Given the description of an element on the screen output the (x, y) to click on. 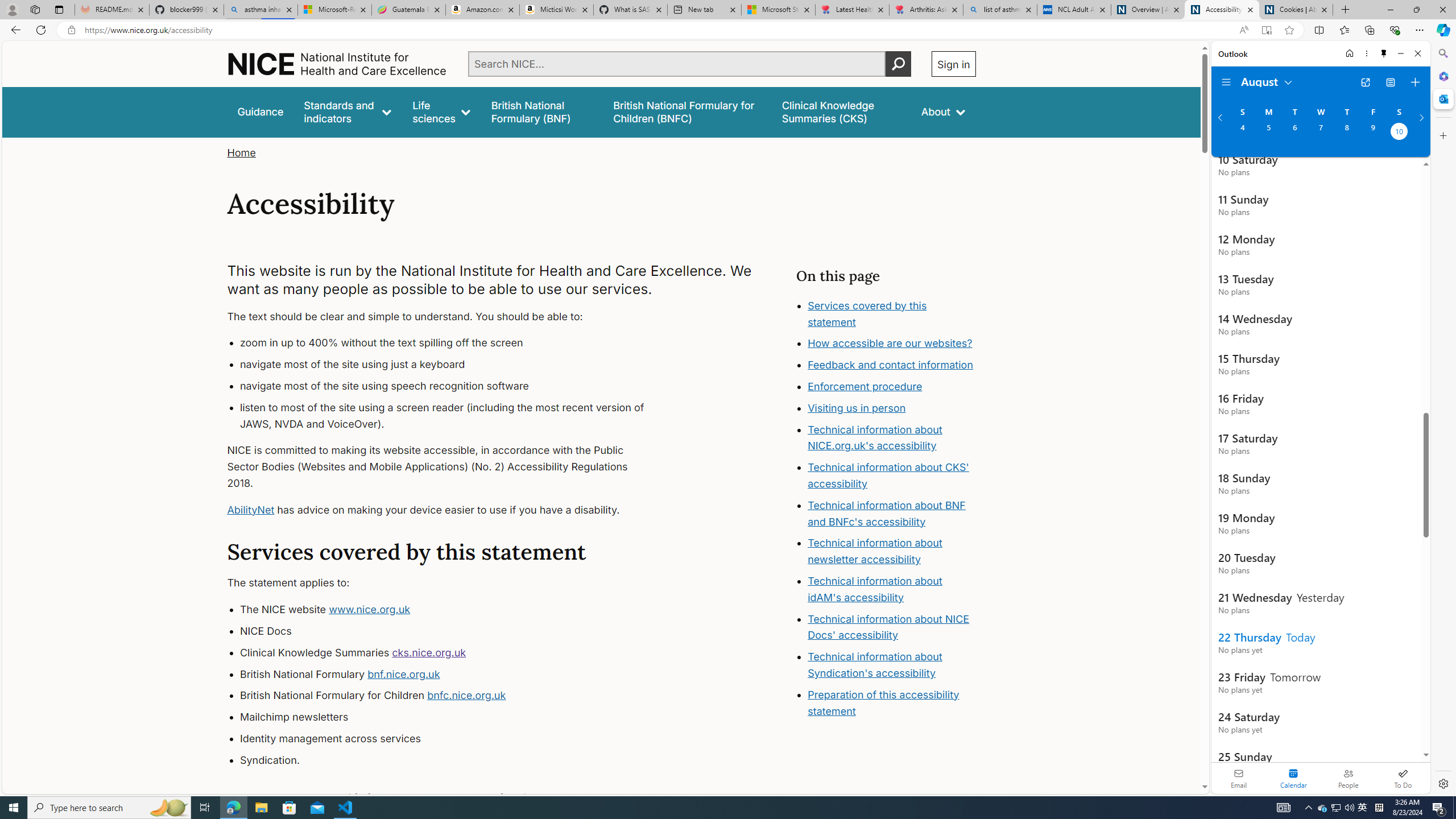
cks.nice.org.uk (428, 652)
zoom in up to 400% without the text spilling off the screen (452, 343)
How accessible are our websites? (891, 343)
Services covered by this statement (867, 313)
Open in new tab (1365, 82)
Services covered by this statement (891, 313)
Folder navigation (1225, 82)
